Given the description of an element on the screen output the (x, y) to click on. 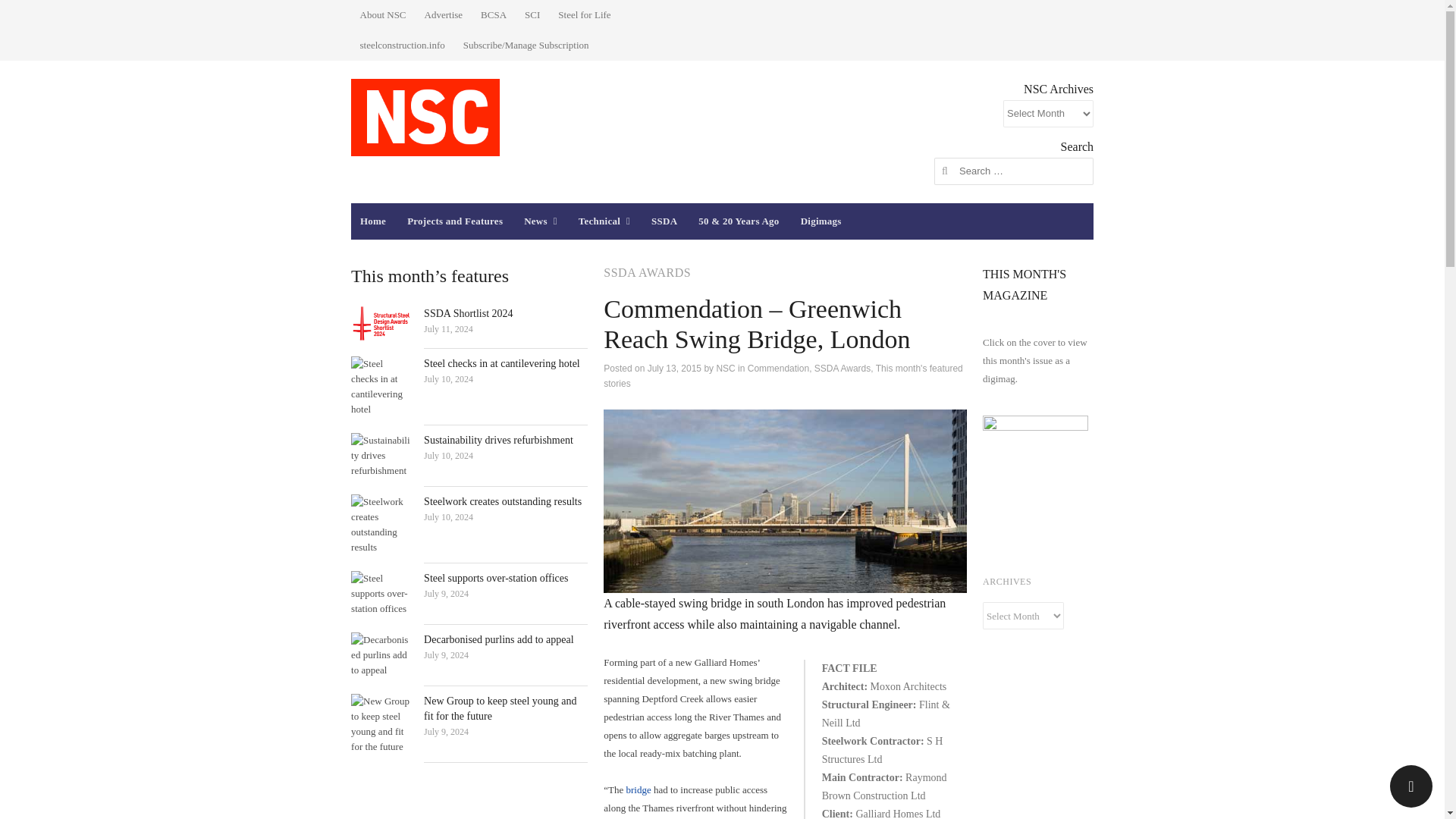
2:41 pm (448, 378)
steelconstruction.info (401, 45)
Steelwork creates outstanding results (501, 501)
Steelwork creates outstanding results (381, 524)
newsteelconstruction.com (424, 117)
SSDA (663, 221)
July 11, 2024 (448, 328)
Technical (604, 221)
BCSA (493, 14)
July 10, 2024 (448, 378)
